Given the description of an element on the screen output the (x, y) to click on. 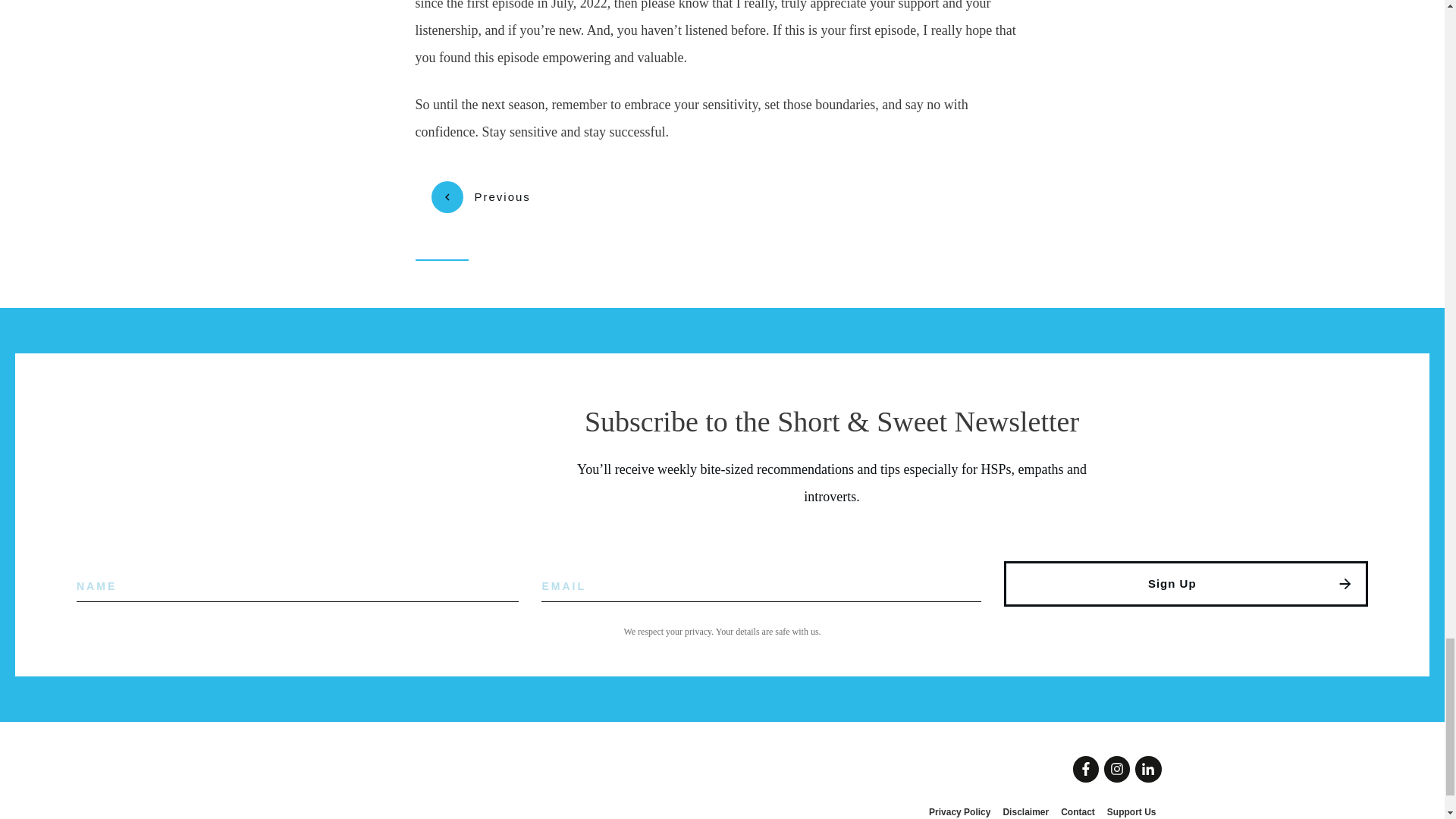
Support Us (1131, 811)
Privacy Policy (959, 811)
Previous (479, 196)
Disclaimer (1025, 811)
Sign Up (1186, 583)
Contact (1077, 811)
